Given the description of an element on the screen output the (x, y) to click on. 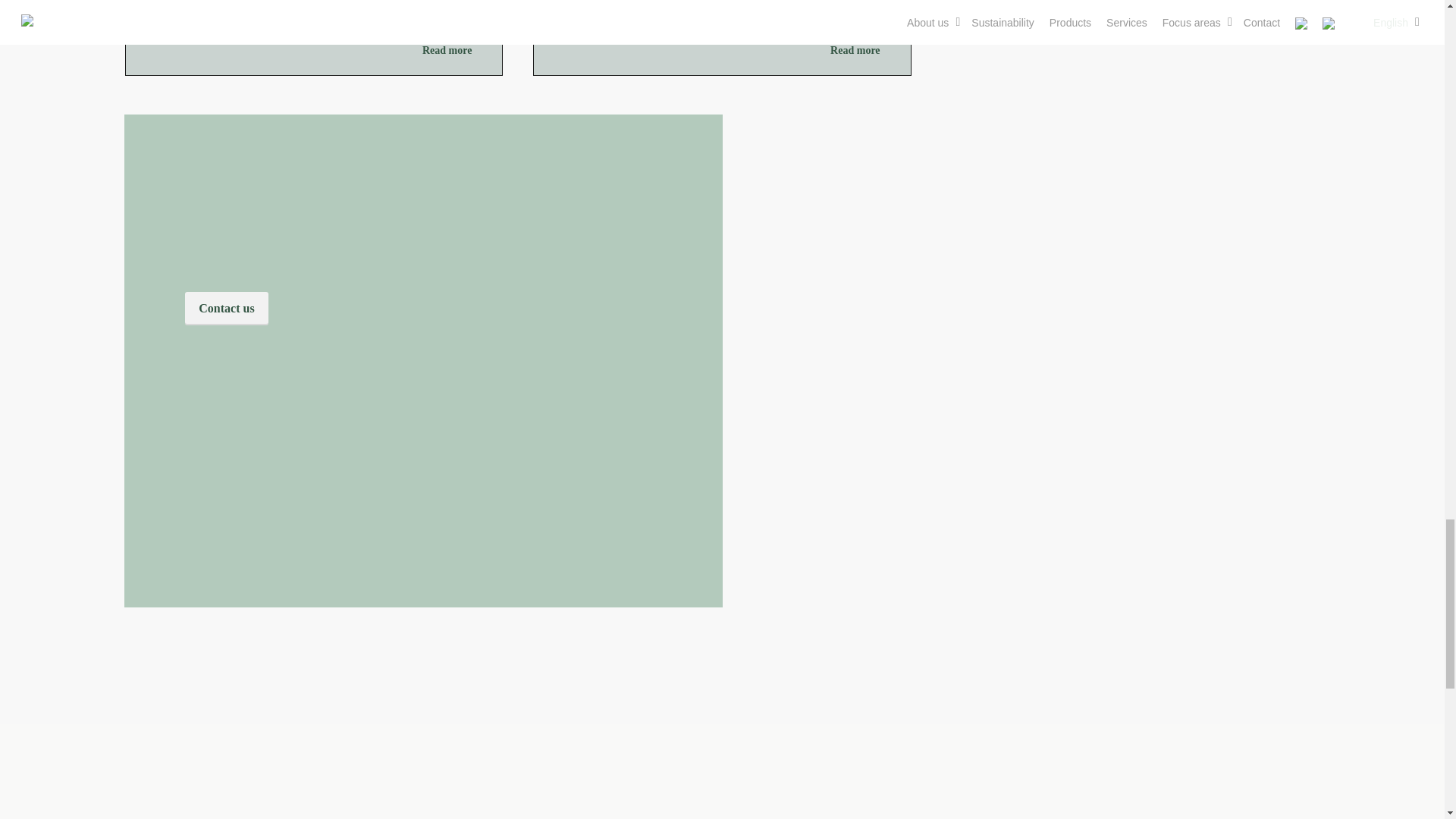
Contact us (225, 308)
